Given the description of an element on the screen output the (x, y) to click on. 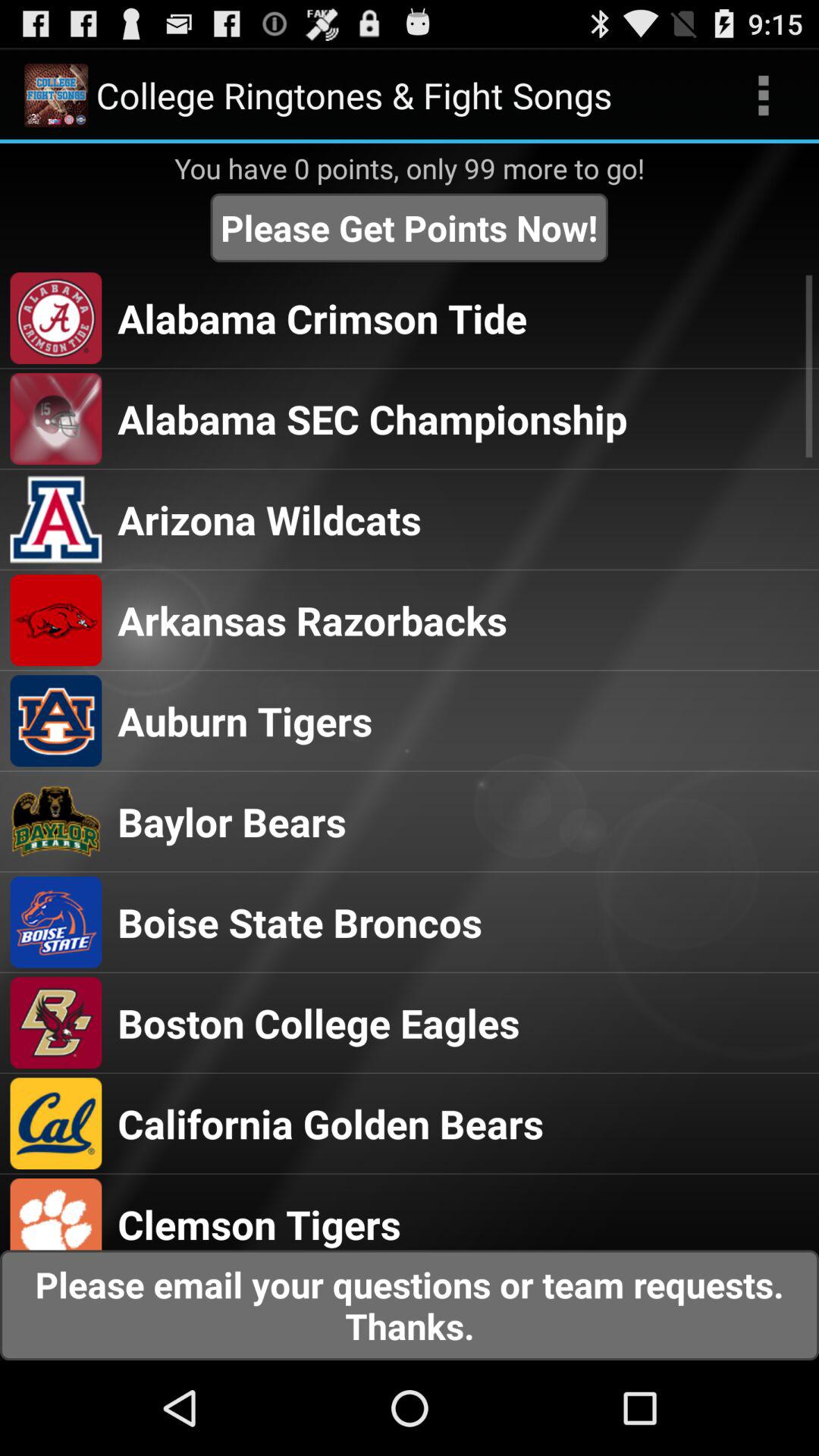
select the clemson tigers app (258, 1223)
